Given the description of an element on the screen output the (x, y) to click on. 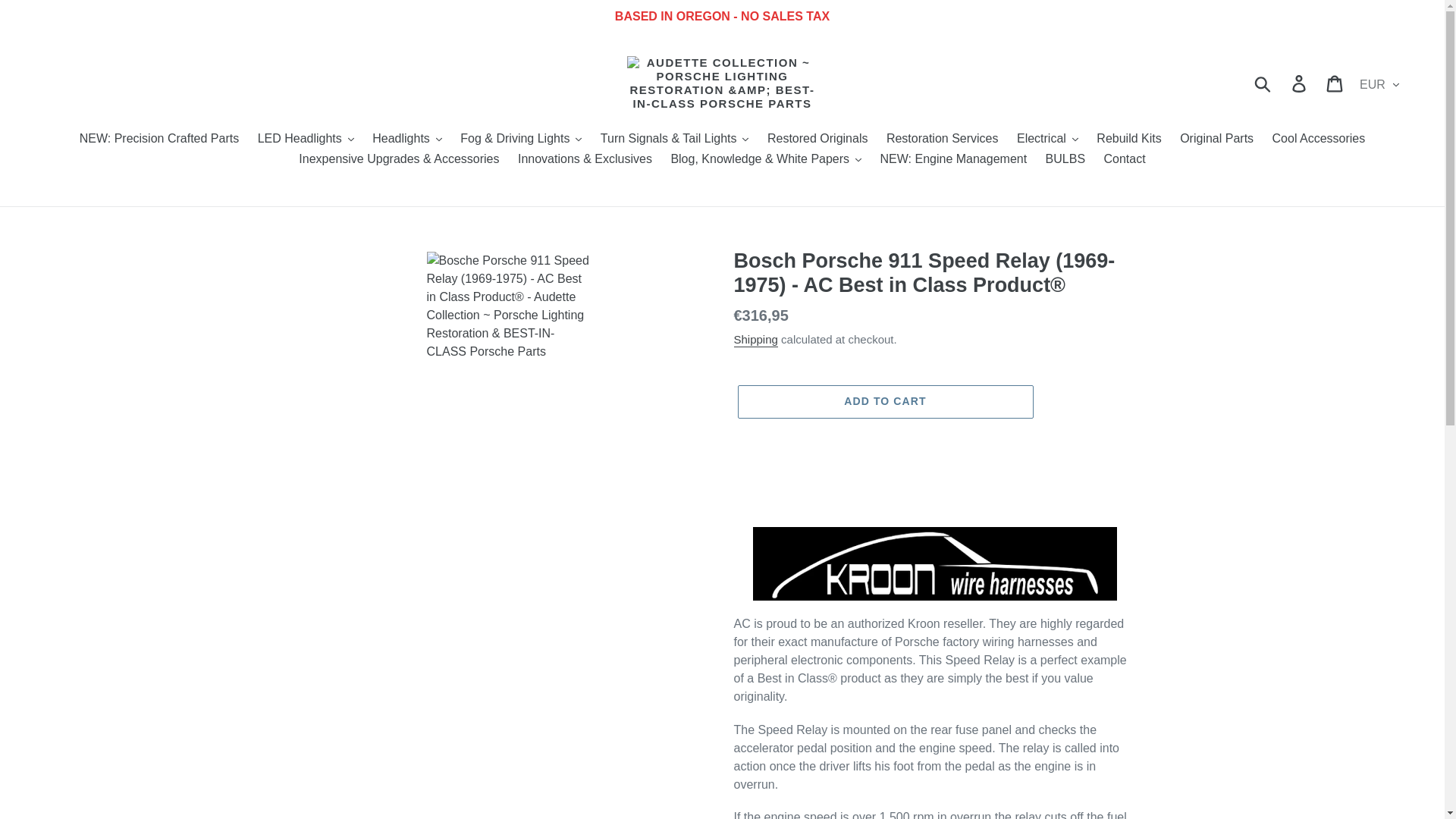
Submit (1263, 82)
Cart (1335, 82)
Log in (1299, 82)
